Given the description of an element on the screen output the (x, y) to click on. 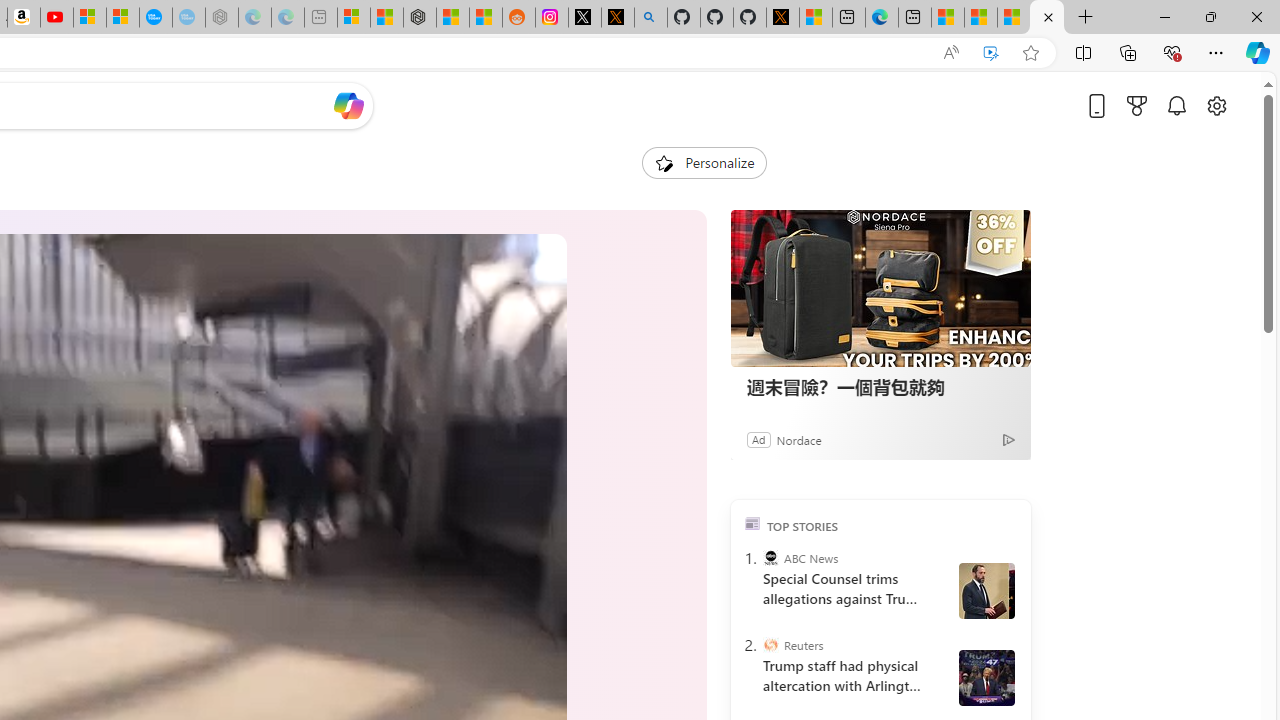
MSNBC - MSN (981, 17)
Open settings (1216, 105)
Welcome to Microsoft Edge (882, 17)
Nordace - Nordace has arrived Hong Kong - Sleeping (222, 17)
X Privacy Policy (782, 17)
